Given the description of an element on the screen output the (x, y) to click on. 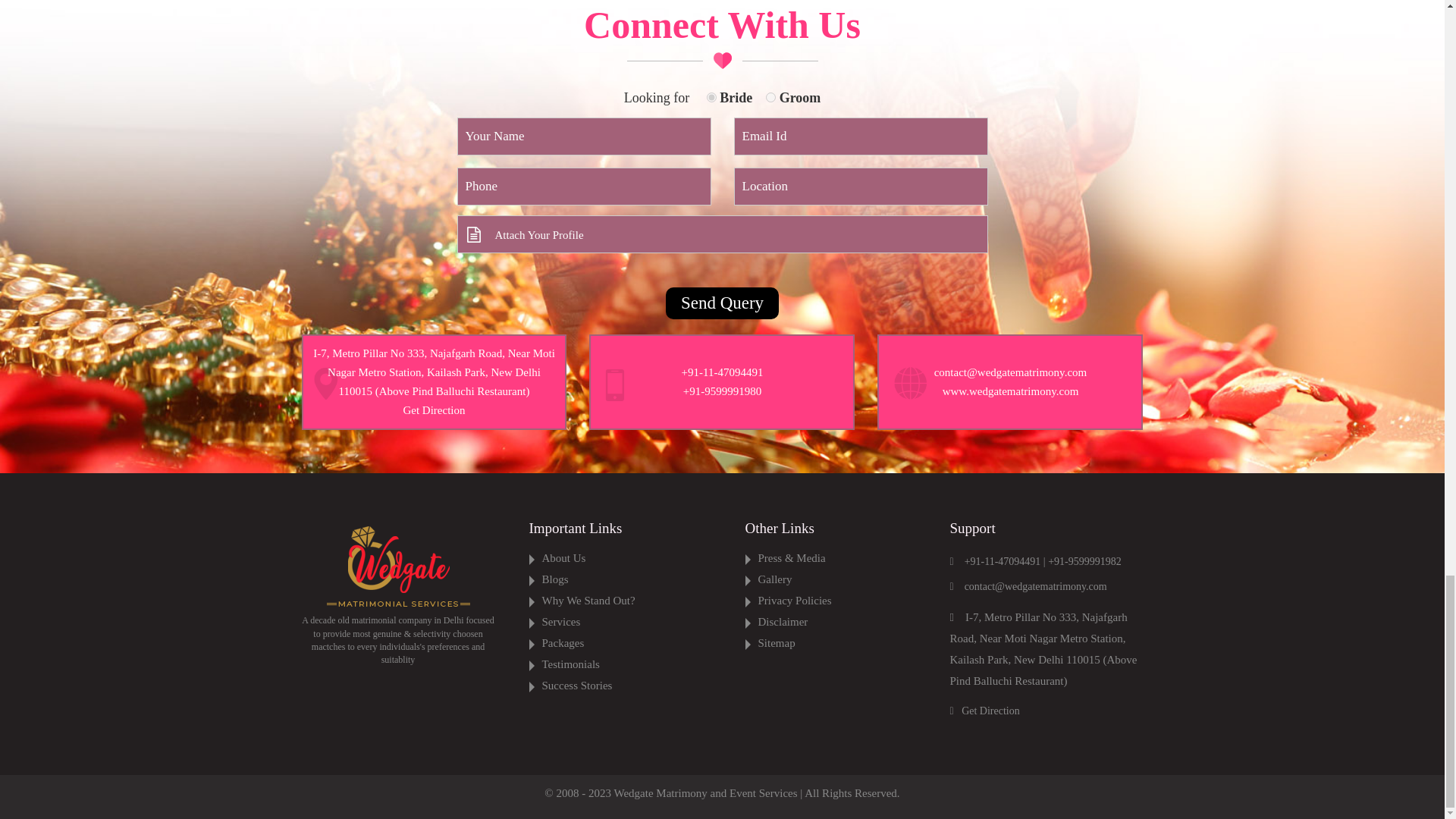
Bride (711, 97)
Groom (770, 97)
Send Query (721, 303)
